Given the description of an element on the screen output the (x, y) to click on. 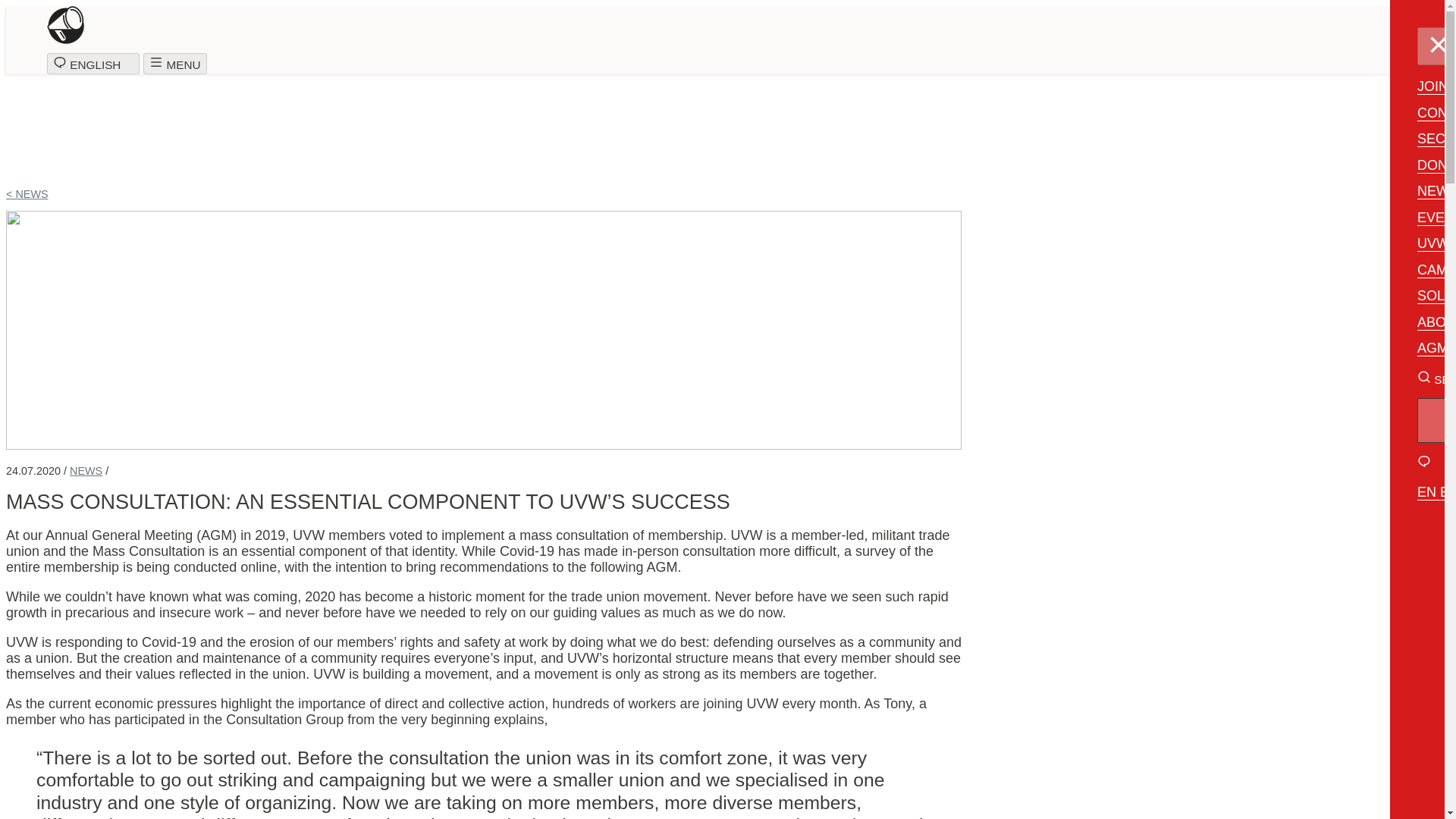
MENU (174, 63)
NEWS (85, 470)
ENGLISH (92, 63)
